Given the description of an element on the screen output the (x, y) to click on. 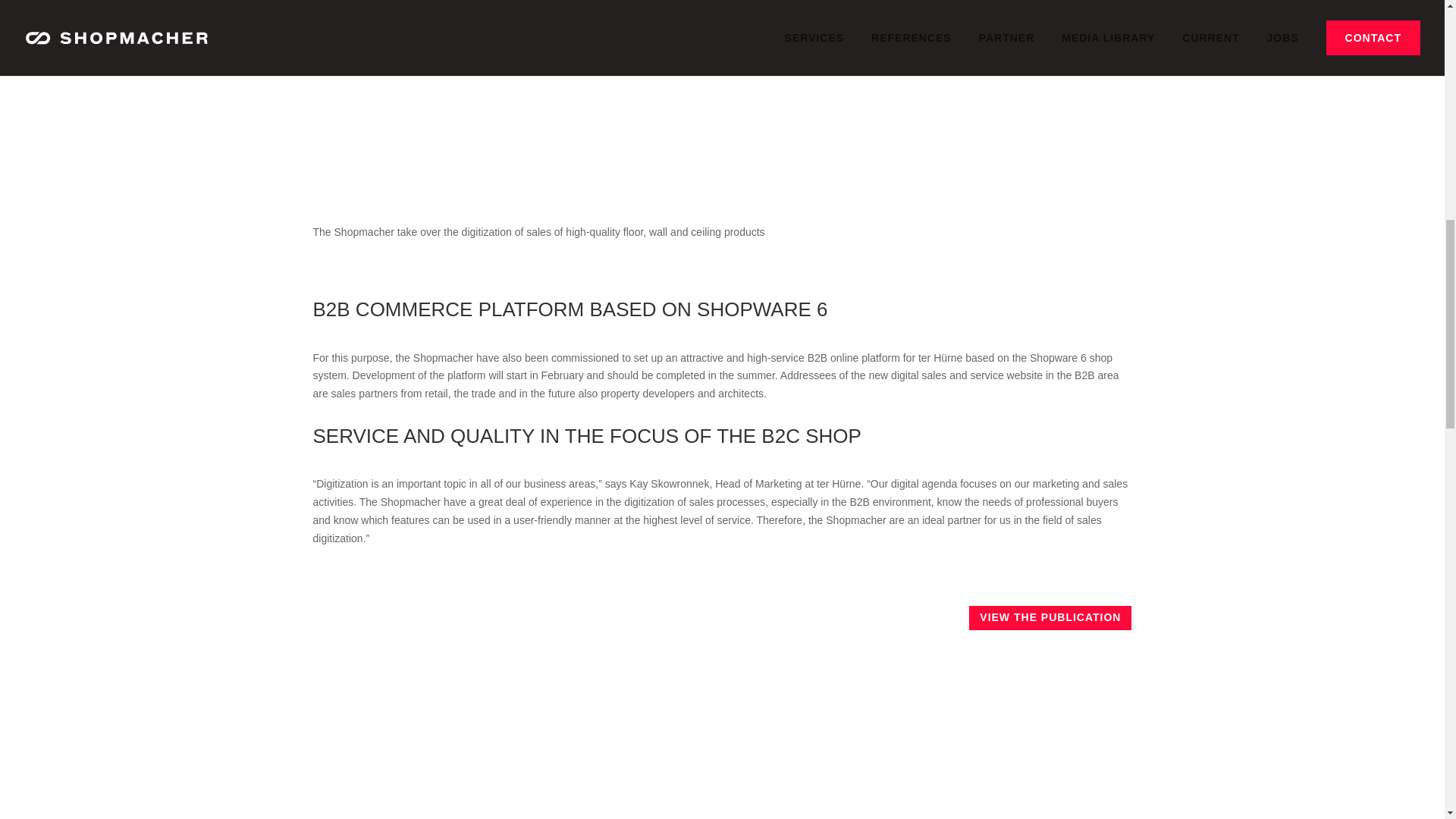
Follow on Facebook (335, 617)
VIEW THE PUBLICATION (1050, 617)
Follow on Instagram (401, 617)
Follow on LinkedIn (368, 617)
Follow on Twitter (434, 617)
Follow on Youtube (468, 617)
